Given the description of an element on the screen output the (x, y) to click on. 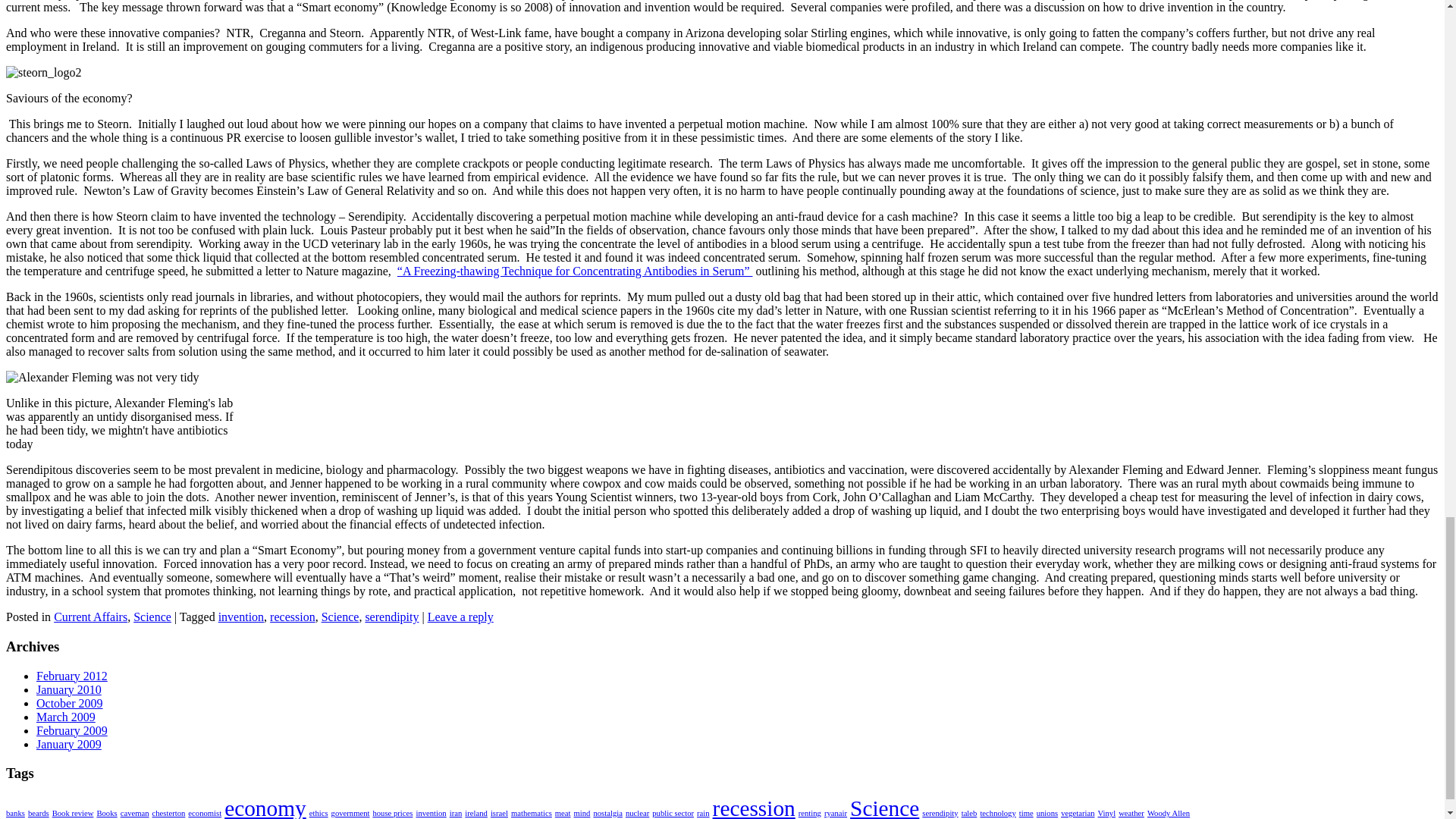
Leave a reply (460, 616)
invention (240, 616)
March 2009 (66, 716)
February 2009 (71, 730)
January 2009 (68, 744)
beards (38, 813)
October 2009 (69, 703)
recession (292, 616)
Book review (73, 813)
Current Affairs (90, 616)
January 2010 (68, 689)
Science (340, 616)
Books (106, 813)
banks (14, 813)
serendipity (392, 616)
